Given the description of an element on the screen output the (x, y) to click on. 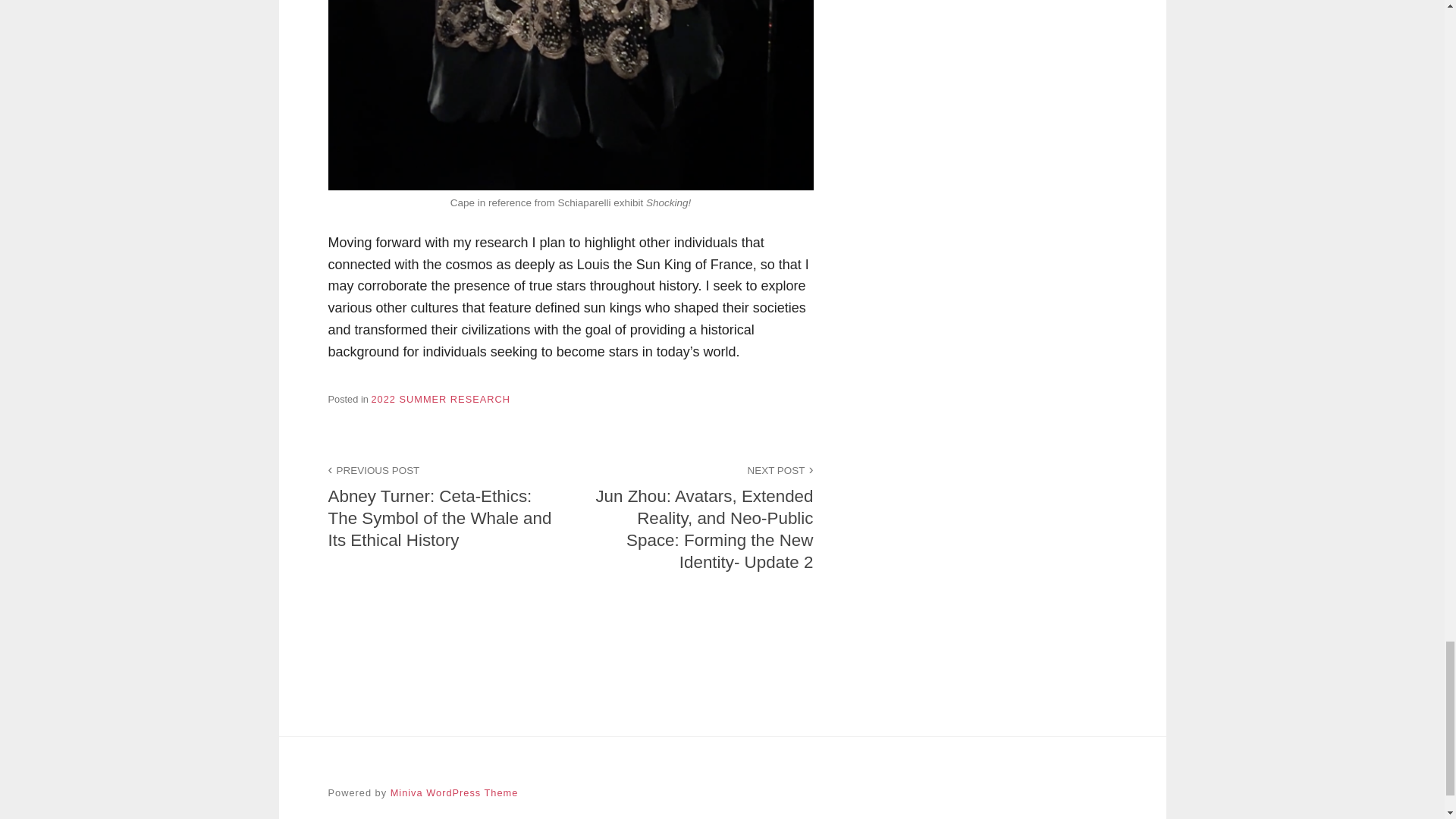
2022 SUMMER RESEARCH (441, 398)
